Given the description of an element on the screen output the (x, y) to click on. 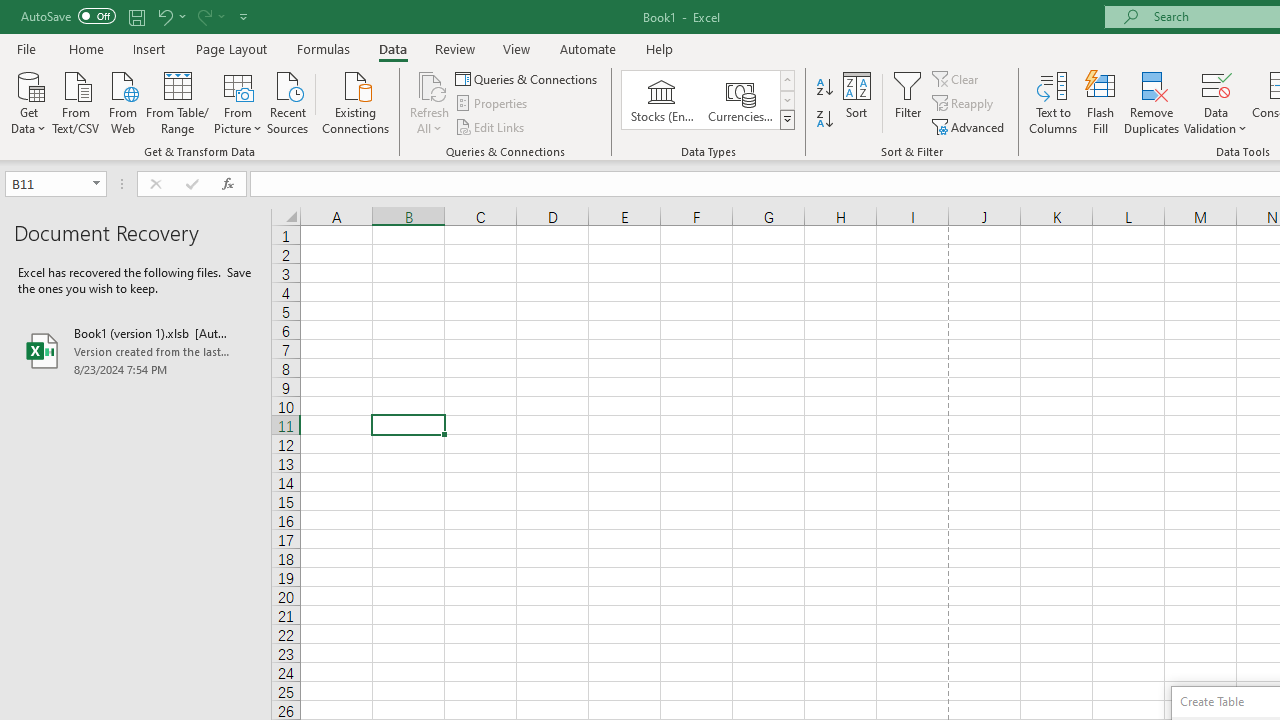
Book1 (version 1).xlsb  [AutoRecovered] (136, 350)
Advanced... (970, 126)
Clear (957, 78)
Get Data (28, 101)
From Table/Range (177, 101)
Flash Fill (1101, 102)
AutomationID: ConvertToLinkedEntity (708, 99)
Sort A to Z (824, 87)
